Given the description of an element on the screen output the (x, y) to click on. 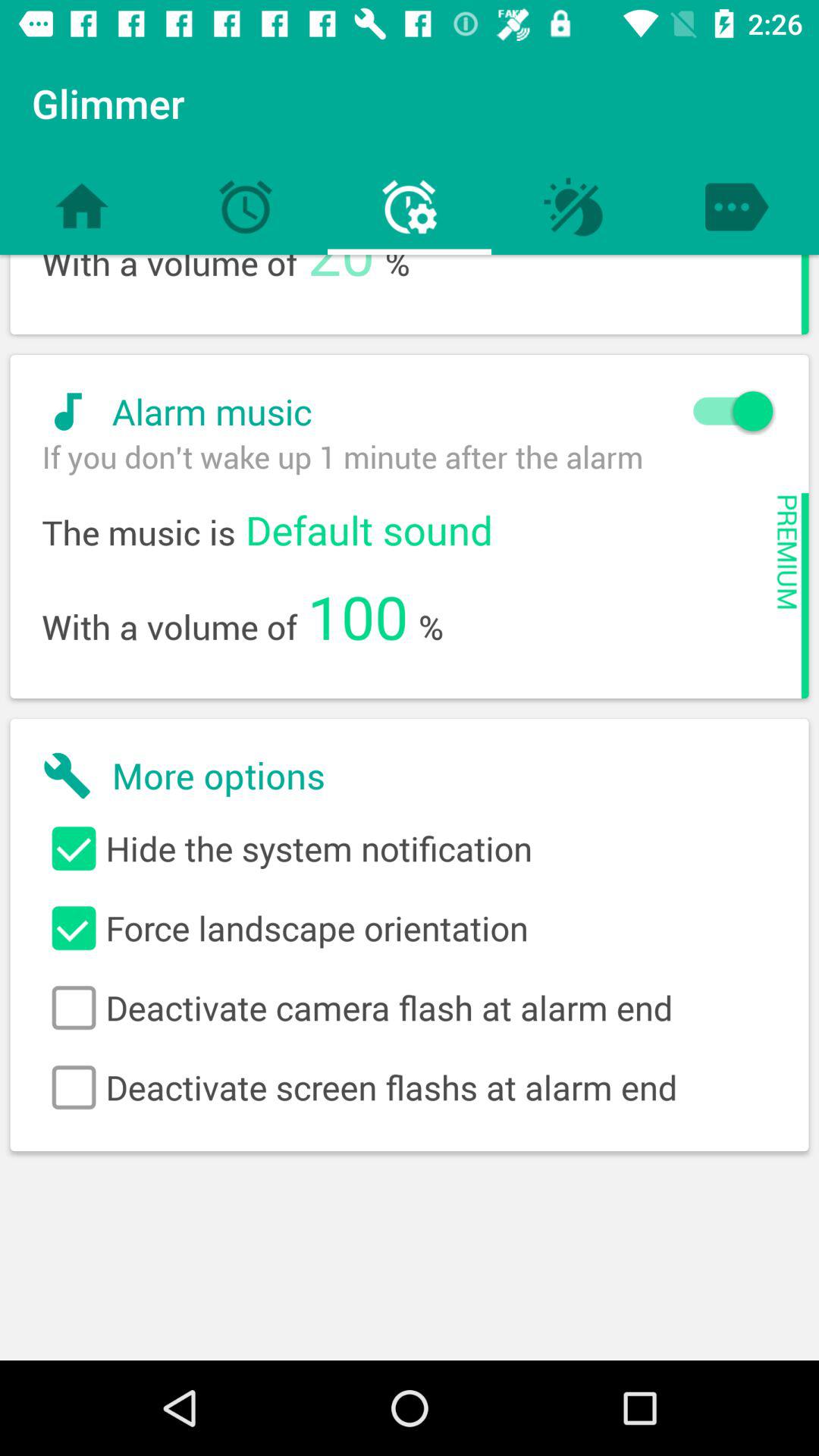
turn on the item above if you don icon (400, 411)
